Given the description of an element on the screen output the (x, y) to click on. 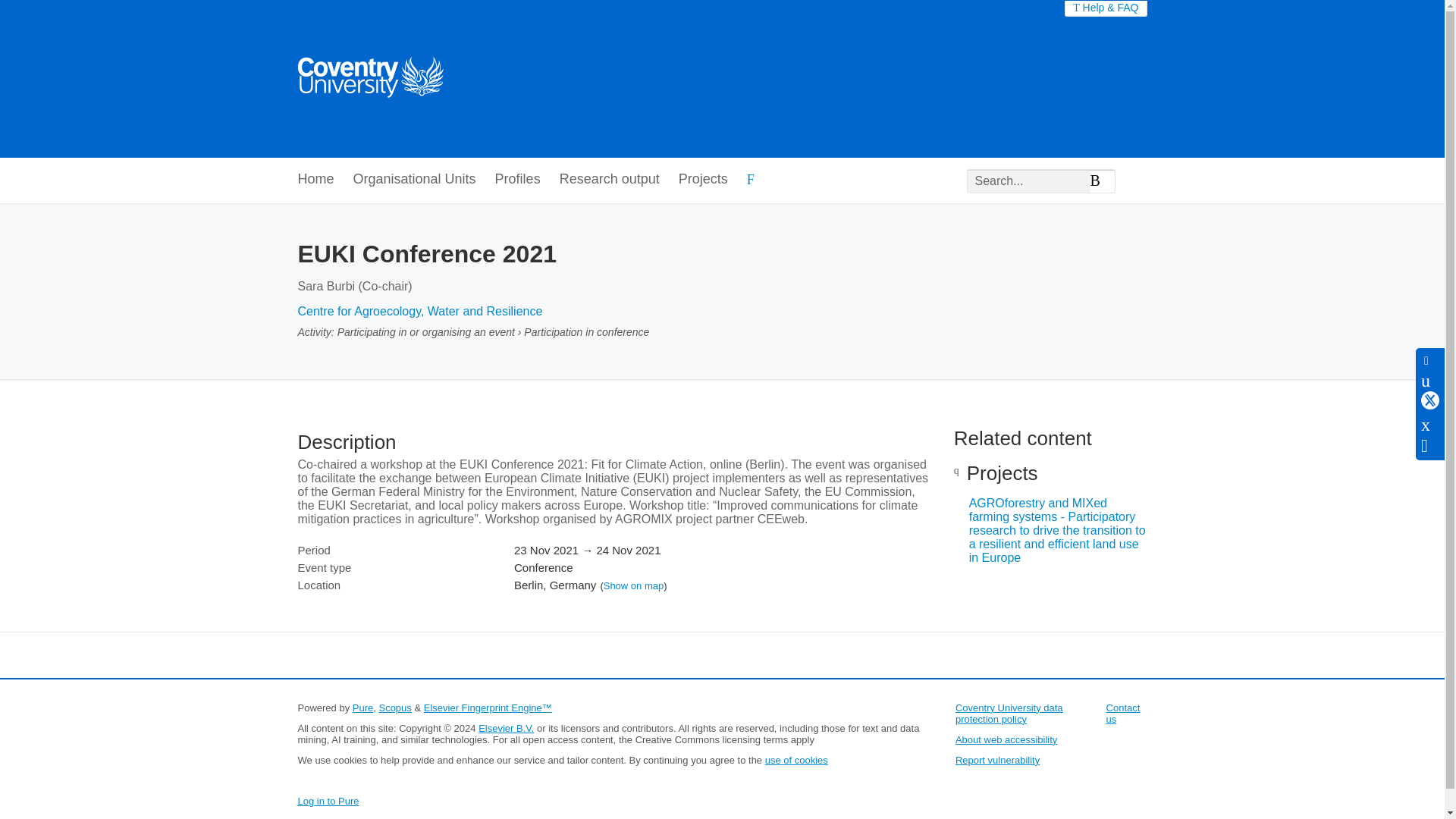
Research output (609, 180)
About web accessibility (1006, 739)
Centre for Agroecology, Water and Resilience (419, 310)
Report vulnerability (997, 759)
Elsevier B.V. (506, 727)
X (1430, 400)
Coventry University Home (369, 78)
Log in to Pure (327, 800)
Pure (362, 707)
